Given the description of an element on the screen output the (x, y) to click on. 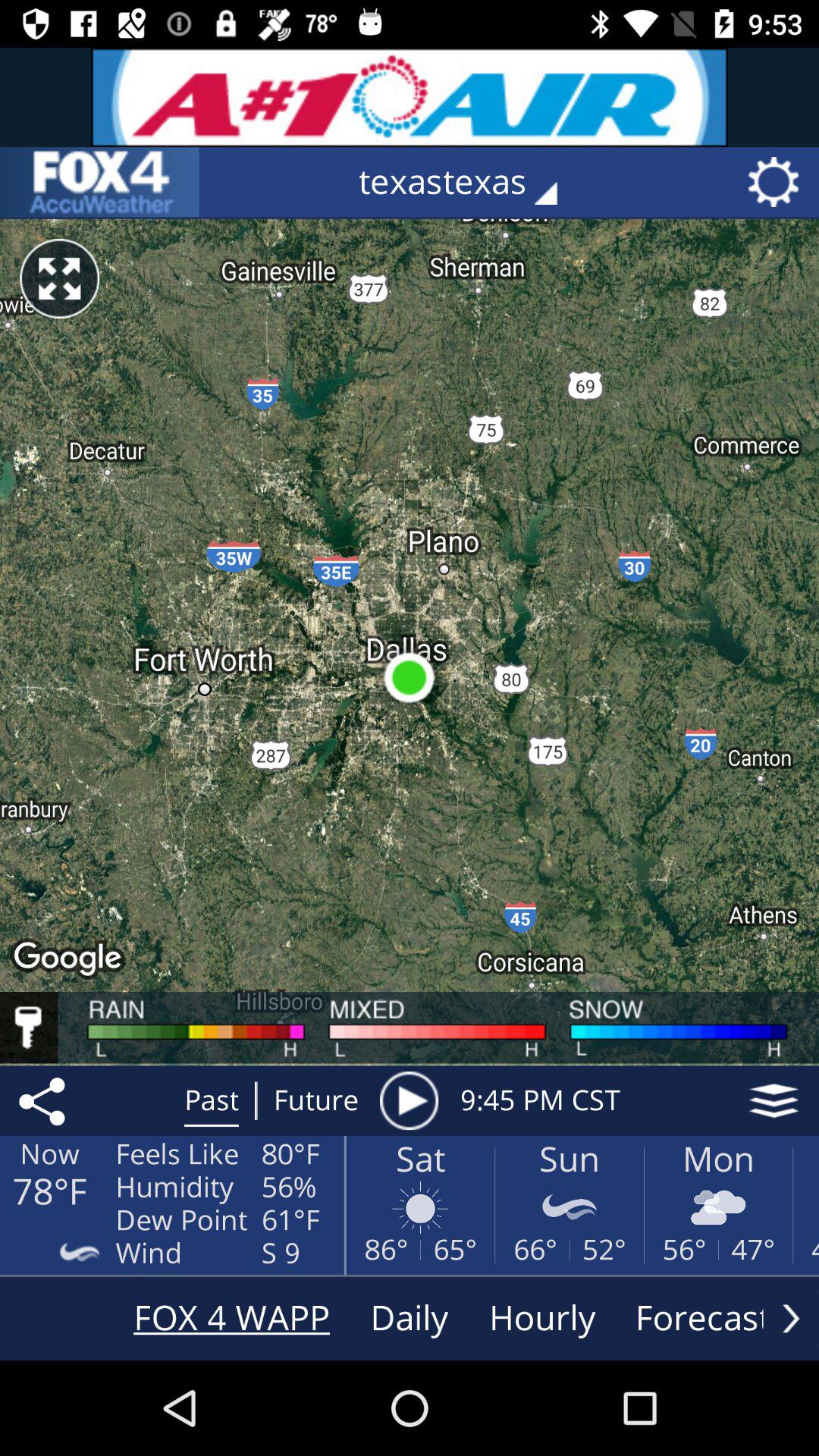
animate map weather (409, 1100)
